Given the description of an element on the screen output the (x, y) to click on. 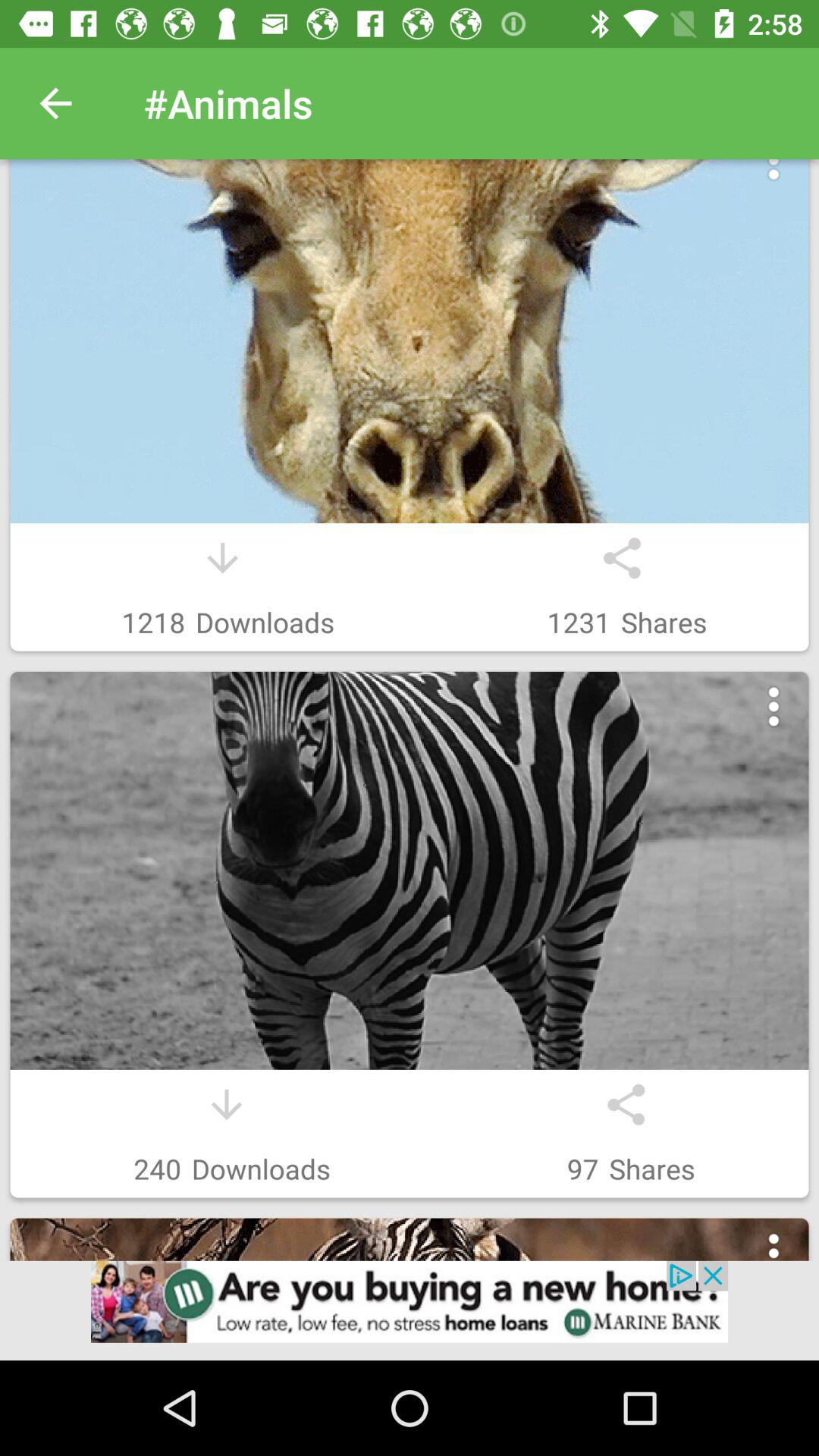
look at more options (773, 1253)
